Given the description of an element on the screen output the (x, y) to click on. 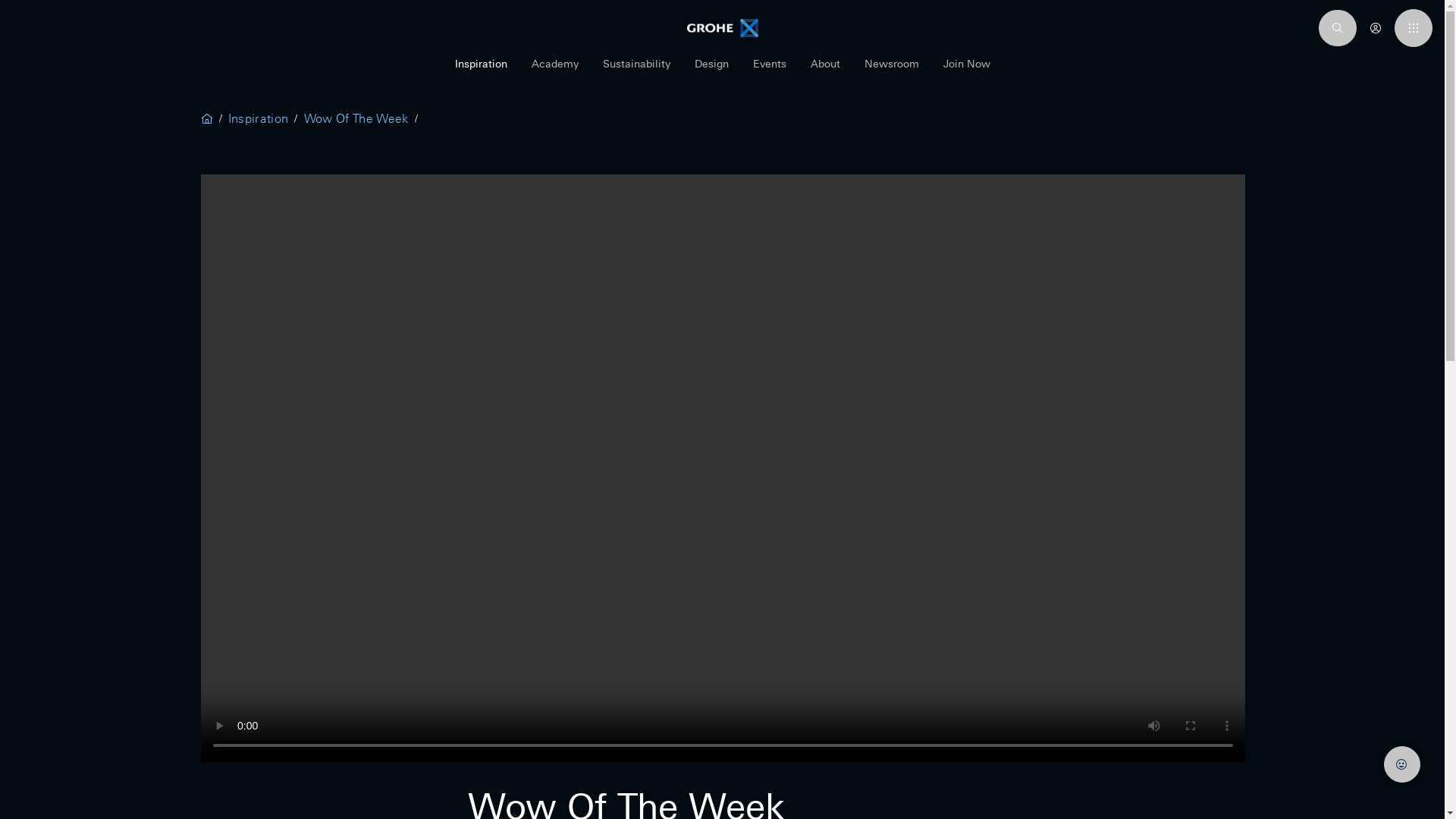
Inspiration (480, 70)
Login (1375, 27)
